Given the description of an element on the screen output the (x, y) to click on. 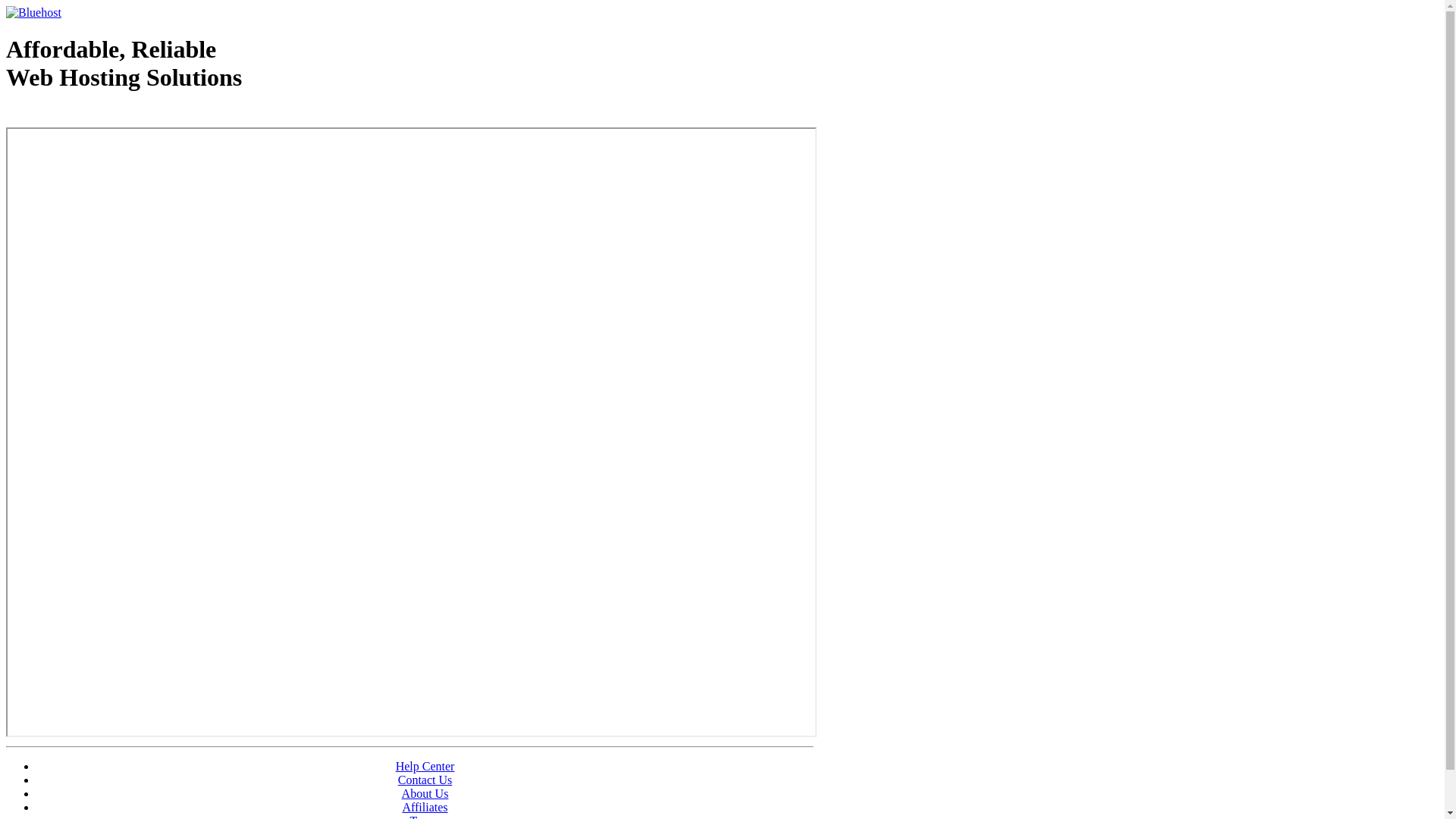
Contact Us Element type: text (425, 779)
About Us Element type: text (424, 793)
Web Hosting - courtesy of www.bluehost.com Element type: text (94, 115)
Help Center Element type: text (425, 765)
Affiliates Element type: text (424, 806)
